Given the description of an element on the screen output the (x, y) to click on. 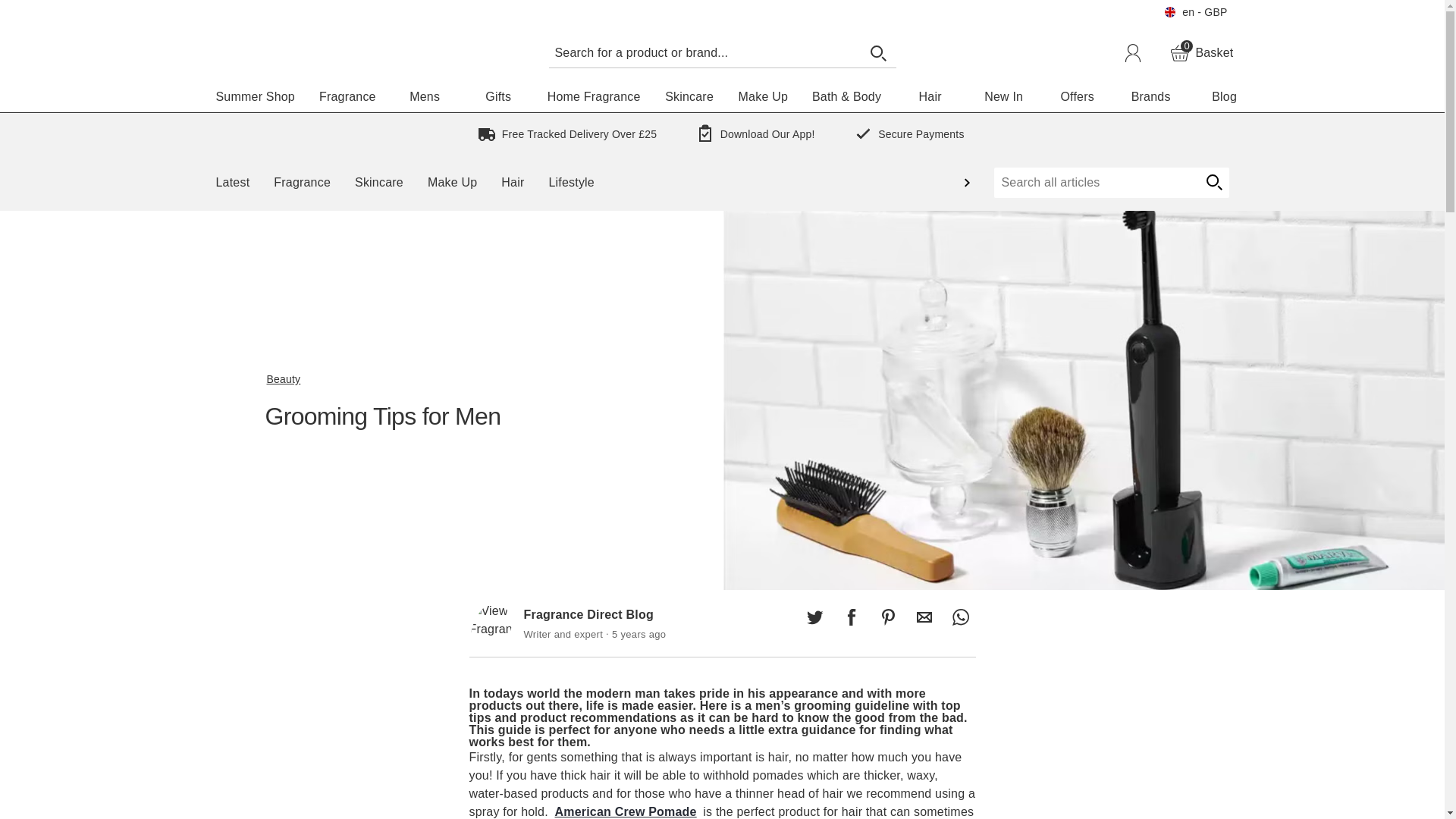
Summer Shop (254, 96)
Share this on Pinterest (1201, 53)
Share this on Twitter (887, 616)
Skip to main content (814, 616)
Share this on Facebook (56, 9)
Fragrance (850, 616)
Share this on WhatsApp (347, 96)
Search for a product or brand... (959, 616)
Search Articles (704, 52)
